Given the description of an element on the screen output the (x, y) to click on. 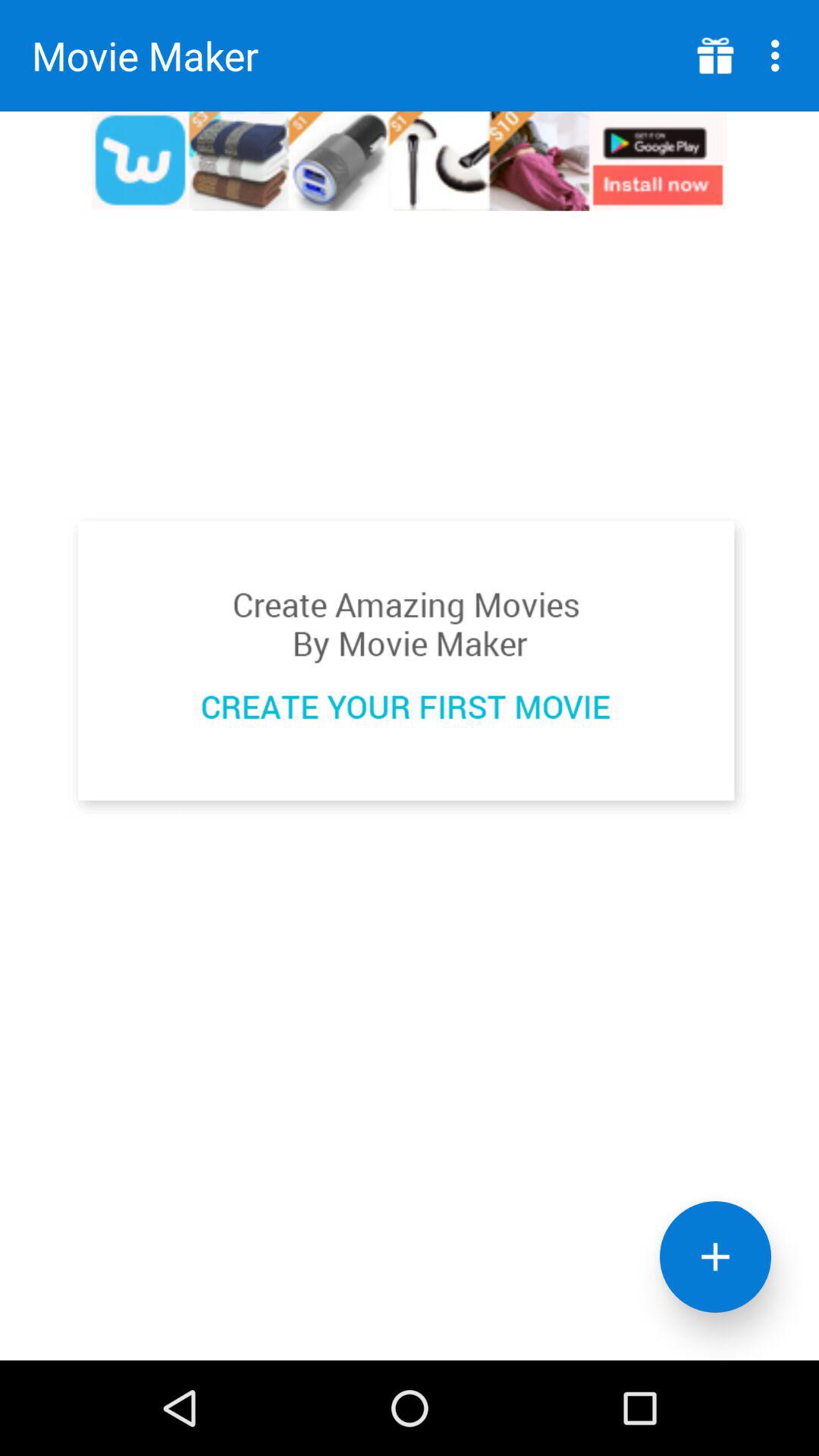
create a movie (409, 665)
